Given the description of an element on the screen output the (x, y) to click on. 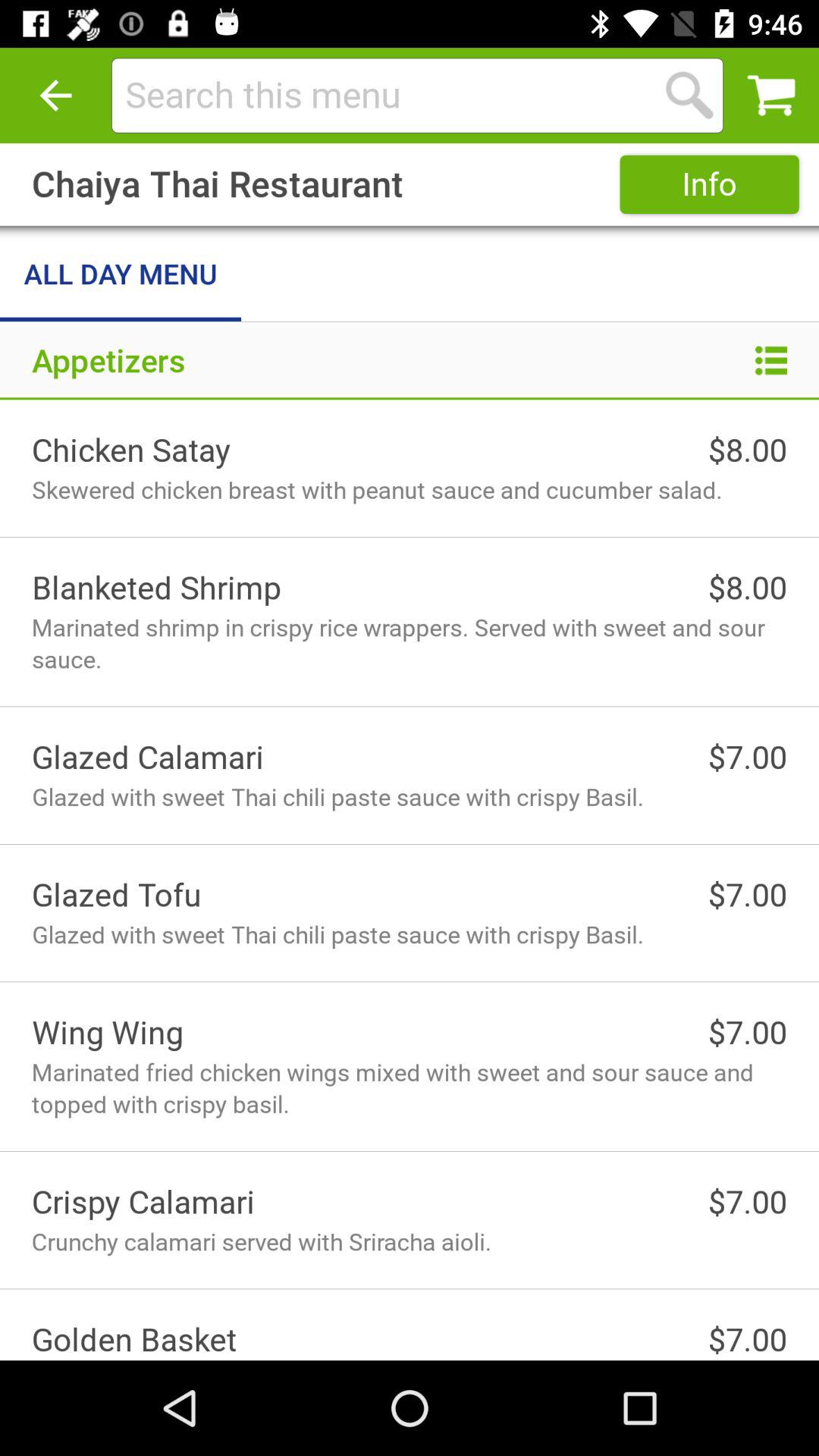
choose icon to the right of chaiya thai restaurant item (709, 184)
